Given the description of an element on the screen output the (x, y) to click on. 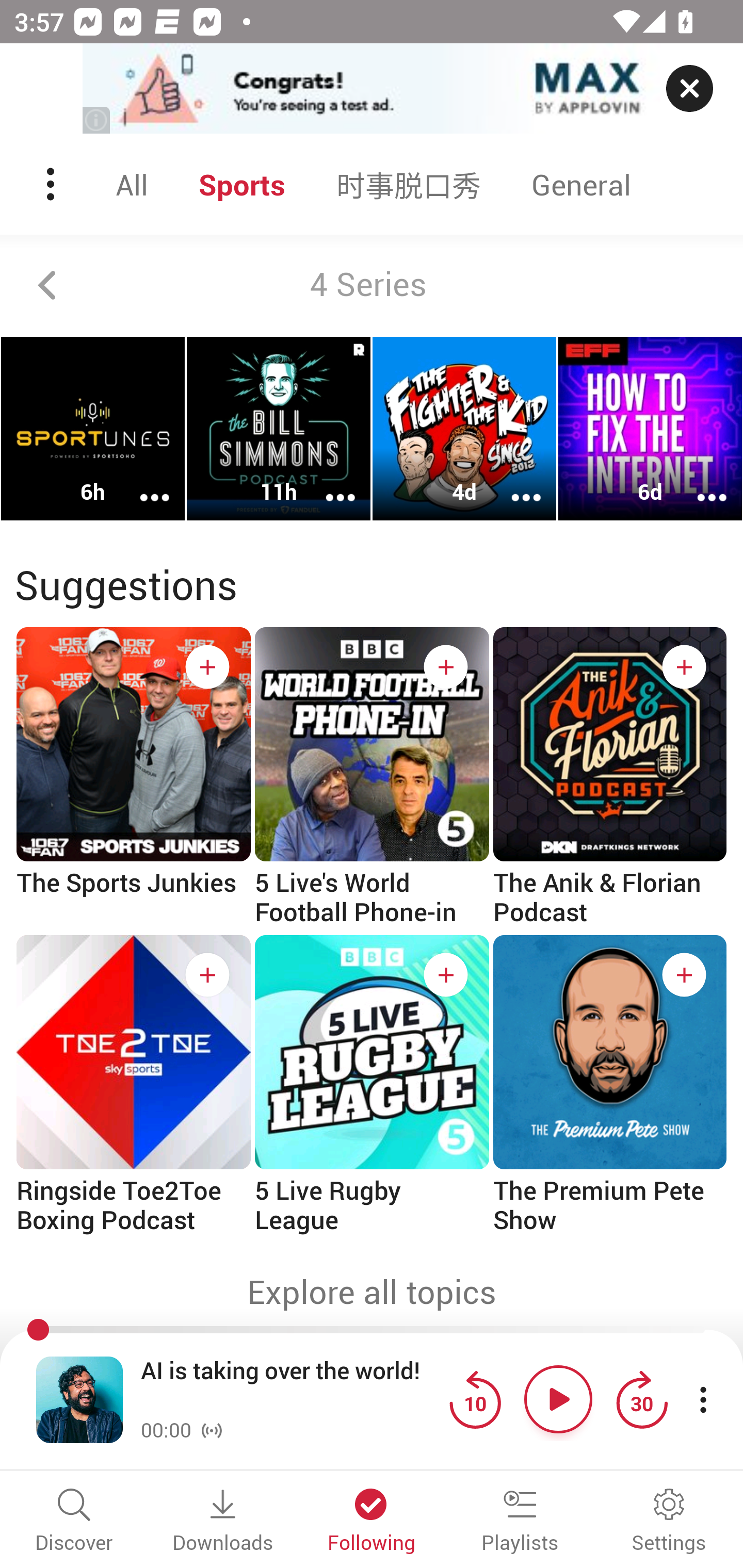
app-monetization (371, 88)
(i) (96, 119)
Menu (52, 184)
All (131, 184)
Sports (242, 184)
时事脱口秀 (408, 184)
General (580, 184)
4 Series (371, 285)
Sportunes HK 6h More options More options (92, 428)
The Fighter & The Kid 4d More options More options (464, 428)
More options (141, 484)
More options (326, 484)
More options (512, 484)
More options (698, 484)
Subscribe button (207, 666)
Subscribe button (446, 666)
Subscribe button (684, 666)
Subscribe button (207, 974)
Subscribe button (446, 974)
Subscribe button (684, 974)
Explore all topics (371, 1291)
Open fullscreen player (79, 1399)
More player controls (703, 1399)
AI is taking over the world! (290, 1385)
Play button (558, 1398)
Jump back (475, 1399)
Jump forward (641, 1399)
Discover (74, 1521)
Downloads (222, 1521)
Following (371, 1521)
Playlists (519, 1521)
Settings (668, 1521)
